Given the description of an element on the screen output the (x, y) to click on. 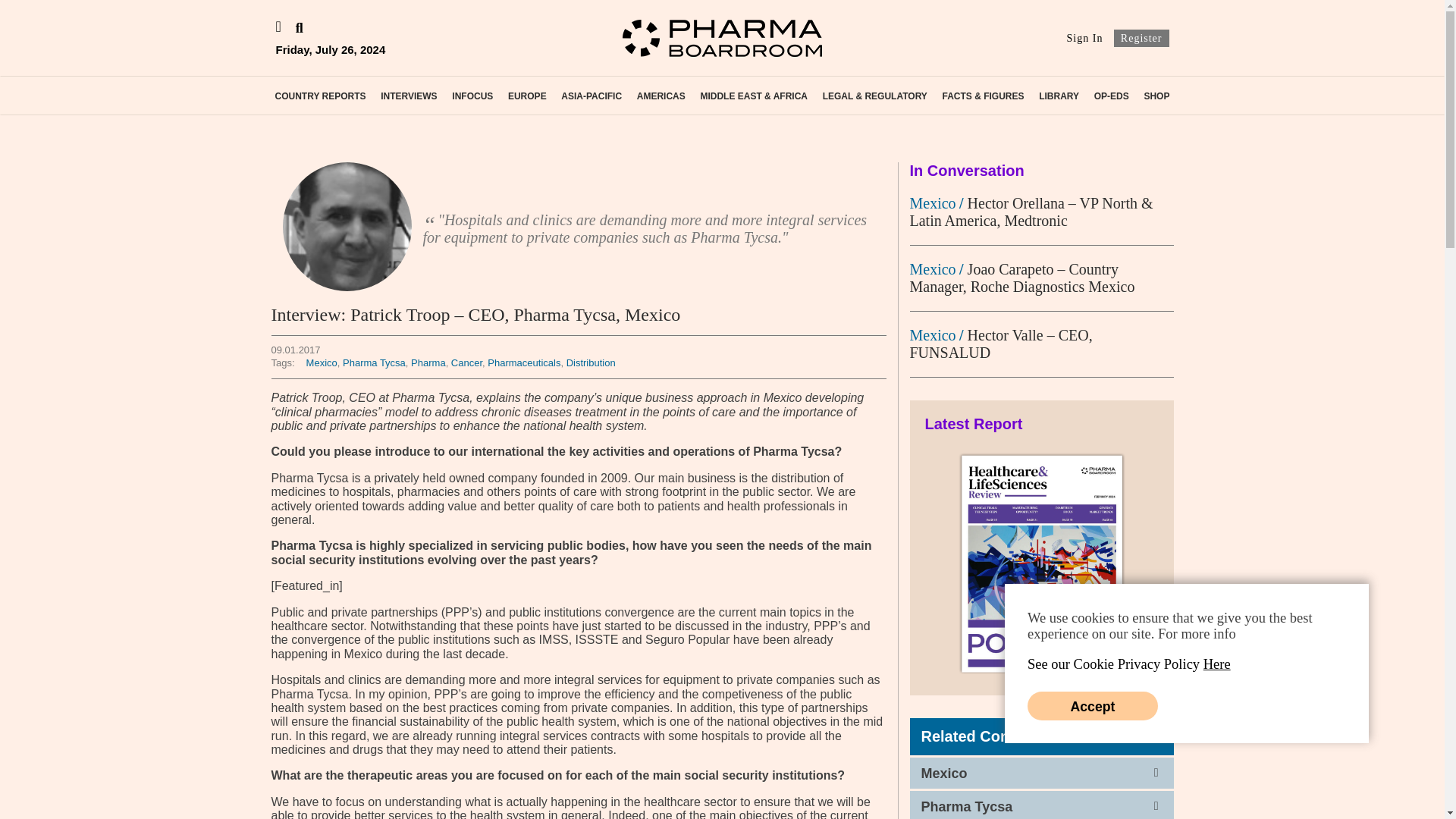
Register (1141, 37)
Sign In (1085, 38)
